Given the description of an element on the screen output the (x, y) to click on. 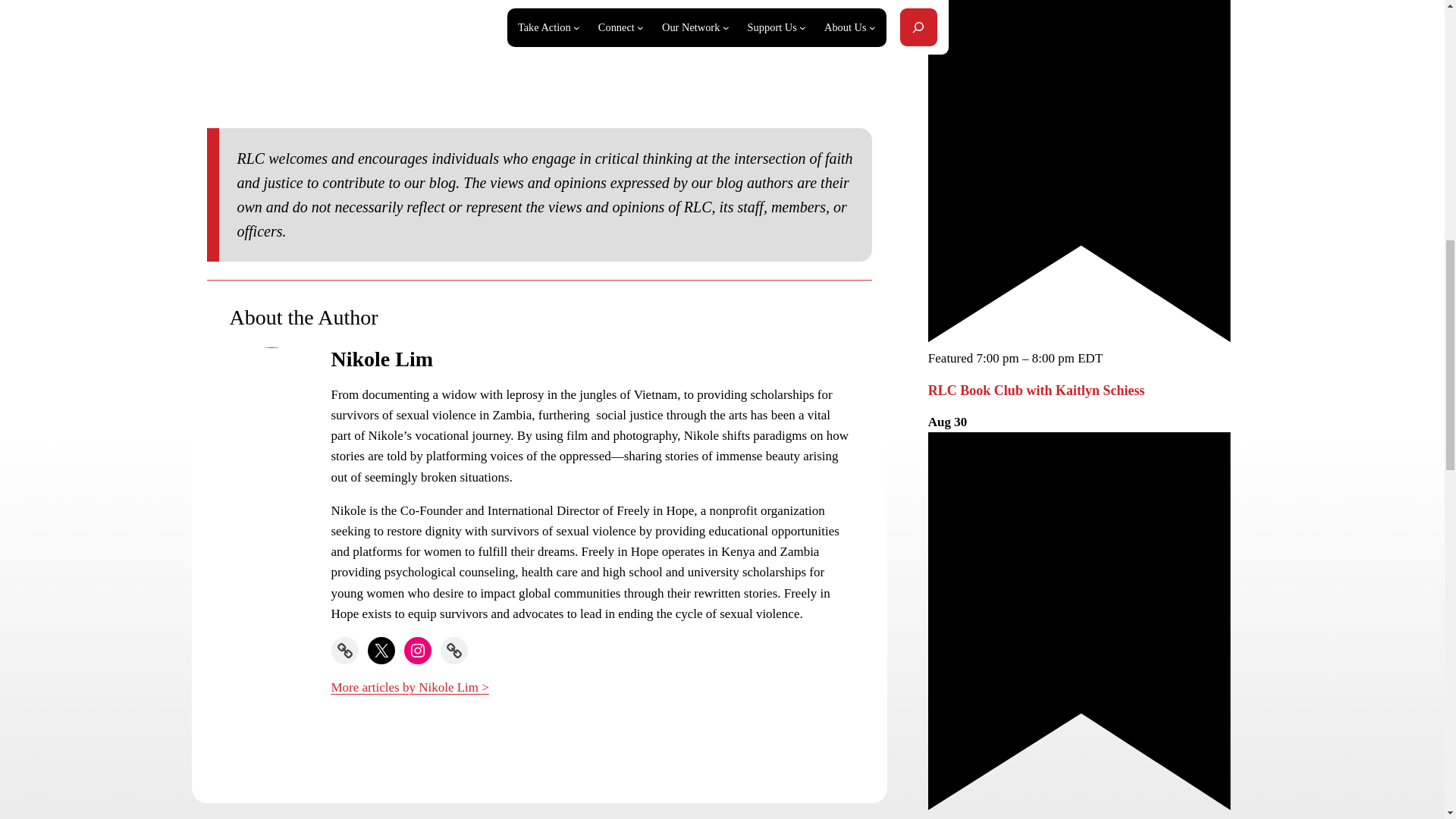
Featured (1079, 337)
Website (453, 650)
Featured (1079, 805)
RLC Book Club with Kaitlyn Schiess (1036, 390)
Instagram (416, 650)
Twitter (380, 650)
Website (344, 650)
